Given the description of an element on the screen output the (x, y) to click on. 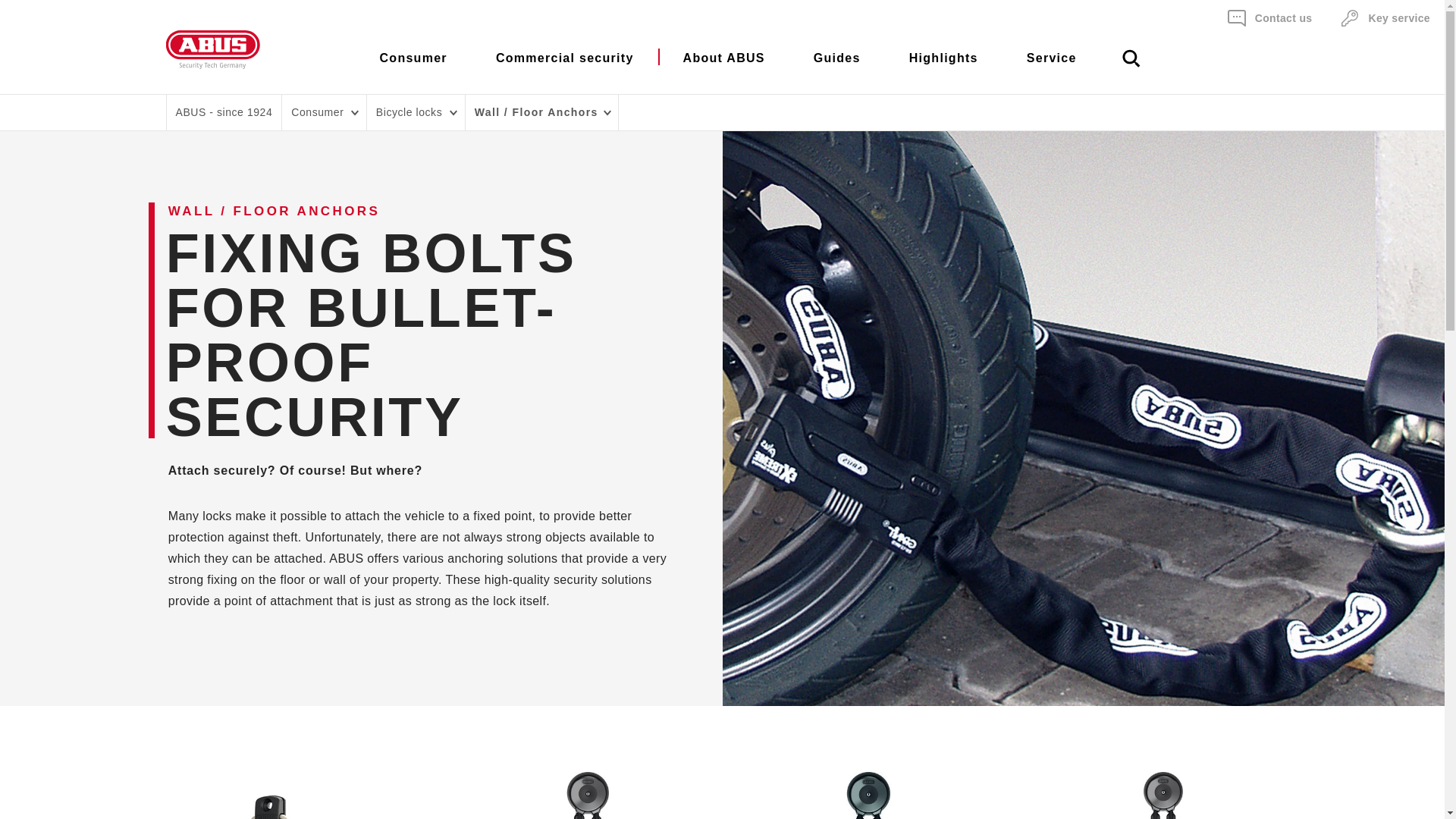
WBA65 (280, 806)
Consumer (412, 66)
